Given the description of an element on the screen output the (x, y) to click on. 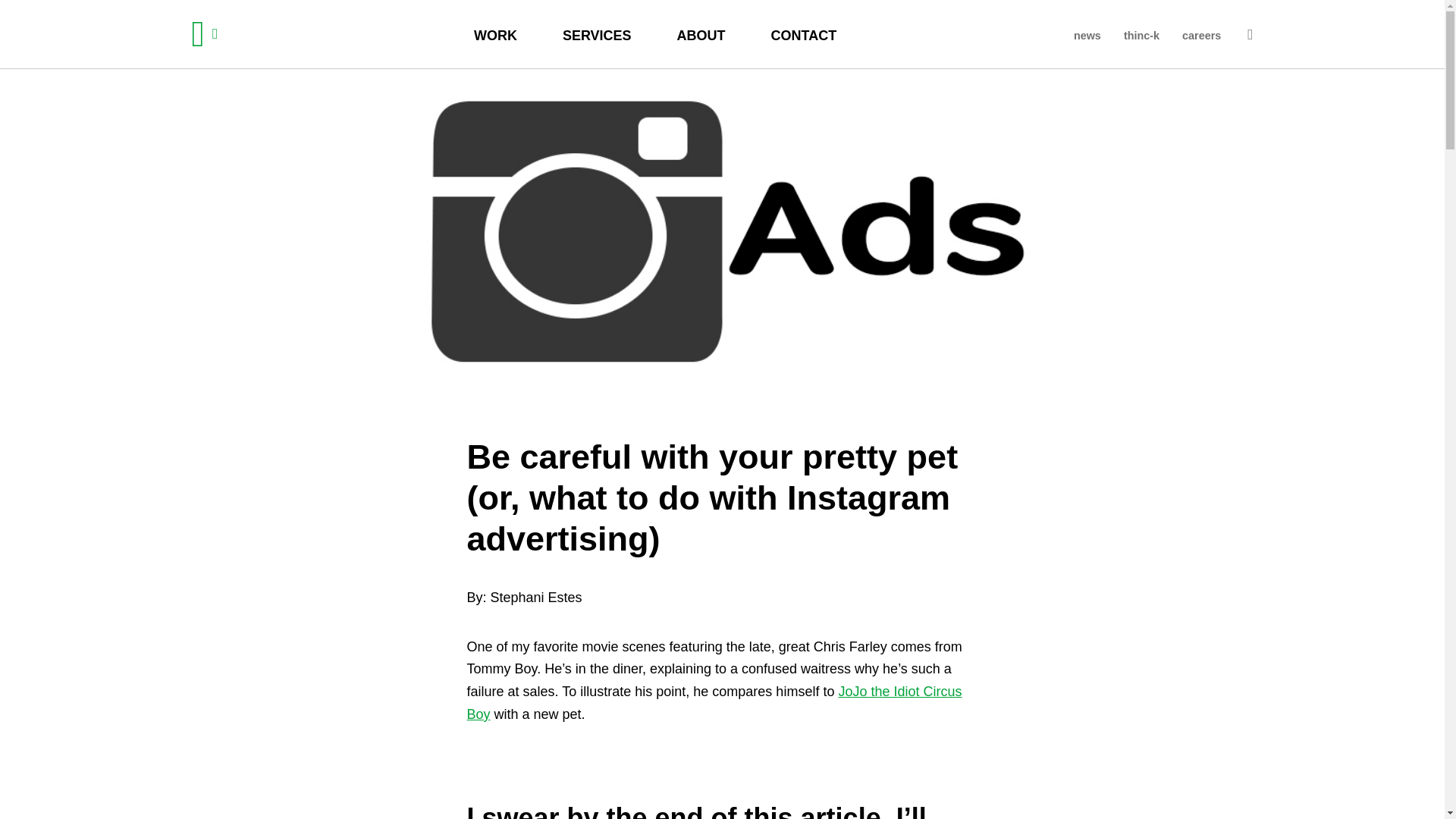
CONTACT (804, 33)
work (495, 33)
JoJo the Idiot Circus Boy (714, 702)
ABOUT (700, 33)
contact (804, 33)
SERVICES (596, 33)
careers (1200, 33)
services (596, 33)
WORK (495, 33)
about (700, 33)
